Given the description of an element on the screen output the (x, y) to click on. 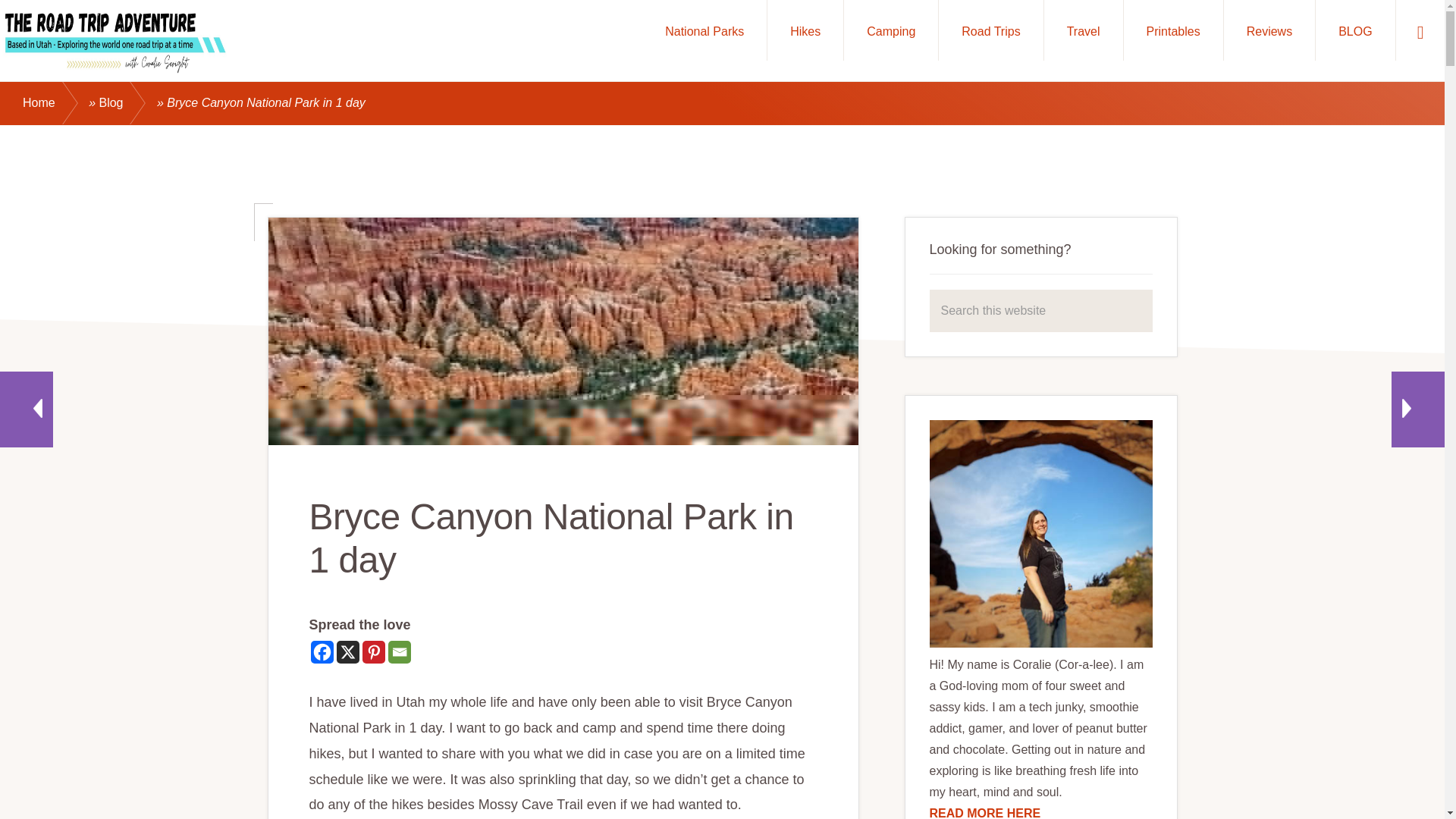
Email (399, 651)
Facebook (322, 651)
Travel (1082, 30)
Pinterest (373, 651)
Printables (1173, 30)
Reviews (1269, 30)
National Parks (704, 30)
Road Trips (990, 30)
Home (54, 102)
